Given the description of an element on the screen output the (x, y) to click on. 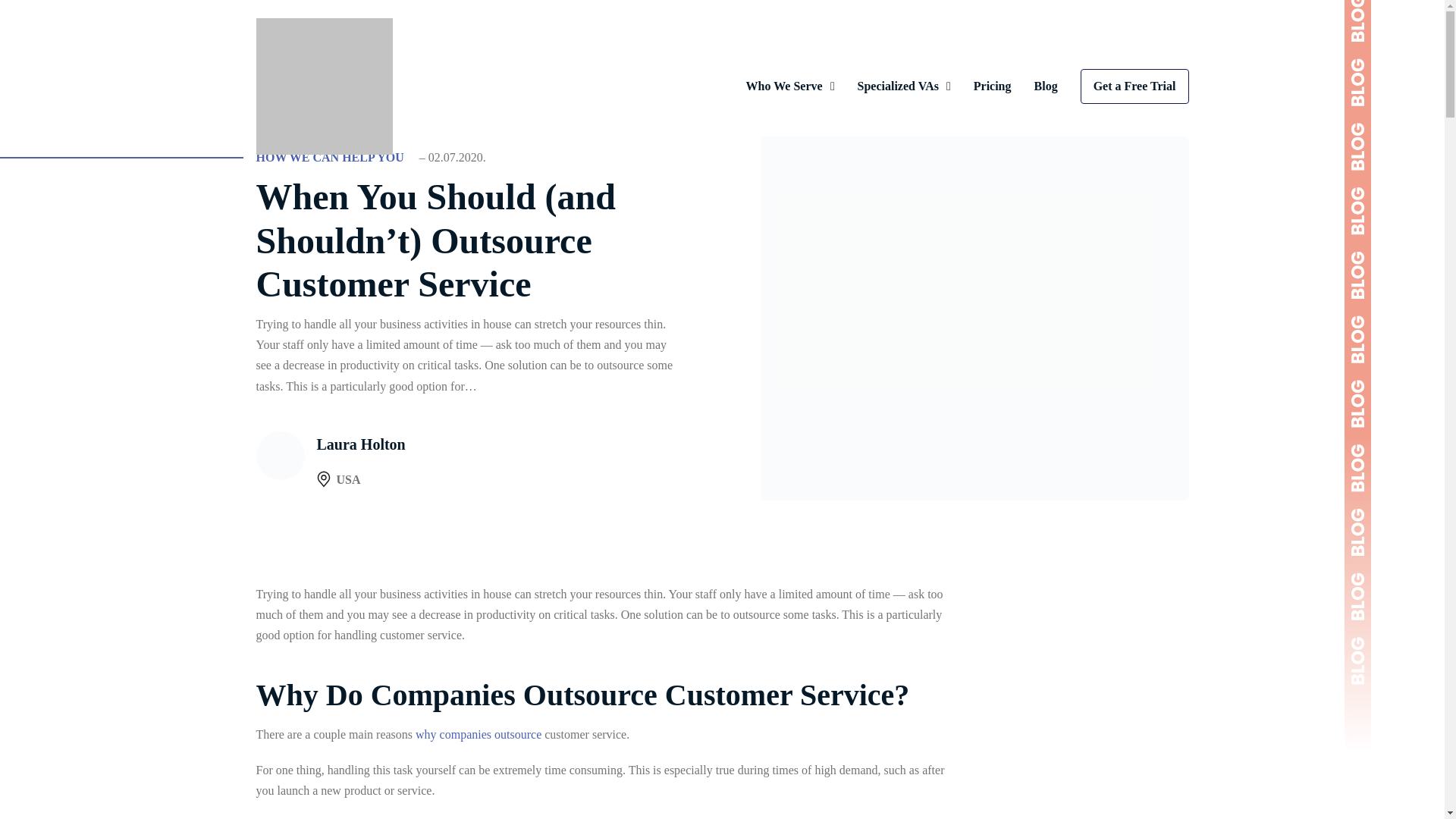
Pricing (992, 86)
Get a Free Trial (1134, 85)
Who We Serve (783, 86)
Specialized VAs (897, 86)
Blog (1045, 86)
